Given the description of an element on the screen output the (x, y) to click on. 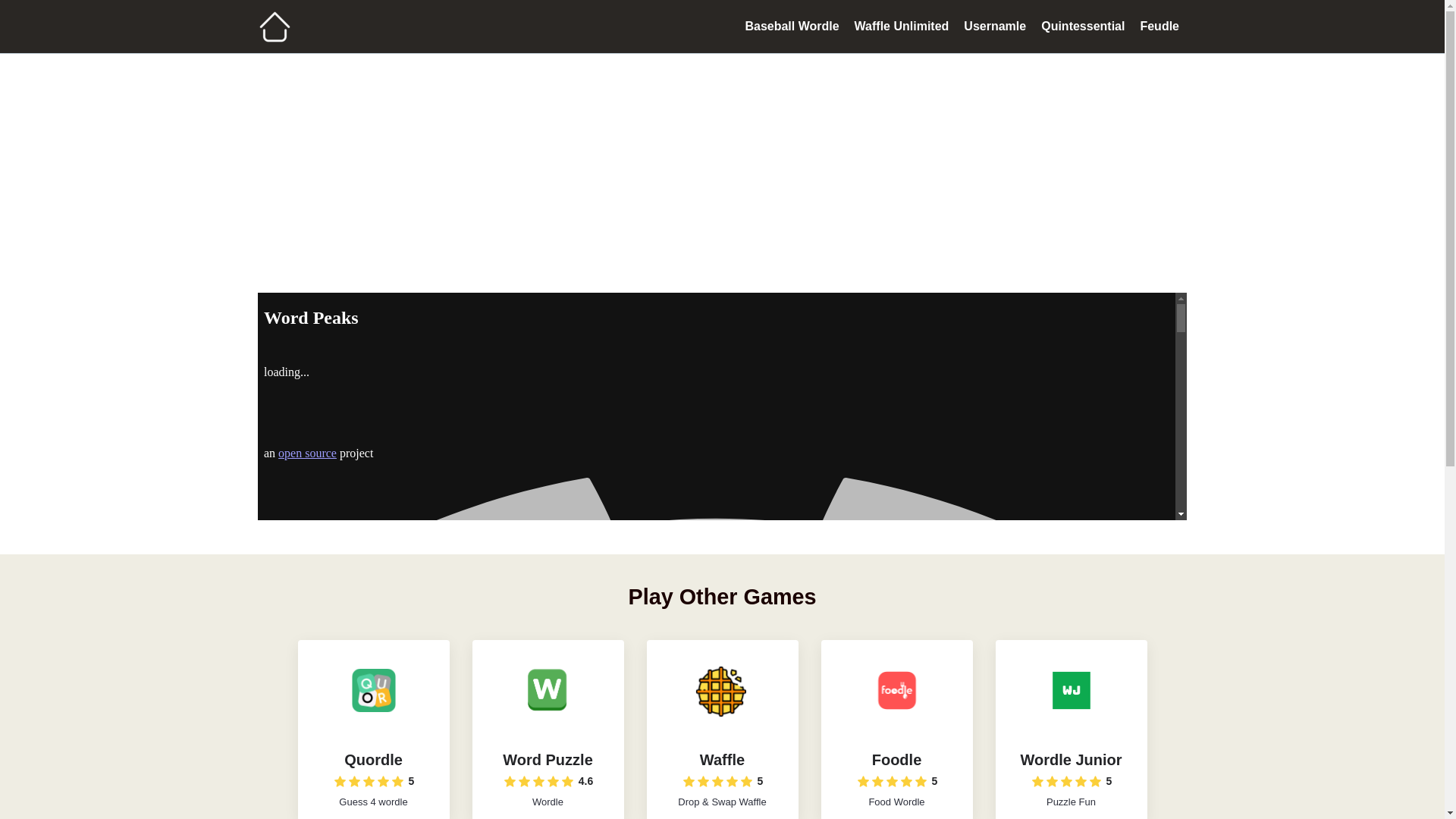
Baseball Wordle (790, 26)
Waffle Unlimited (901, 26)
Quintessential (1082, 26)
Usernamle (994, 26)
Feudle (1159, 26)
